Given the description of an element on the screen output the (x, y) to click on. 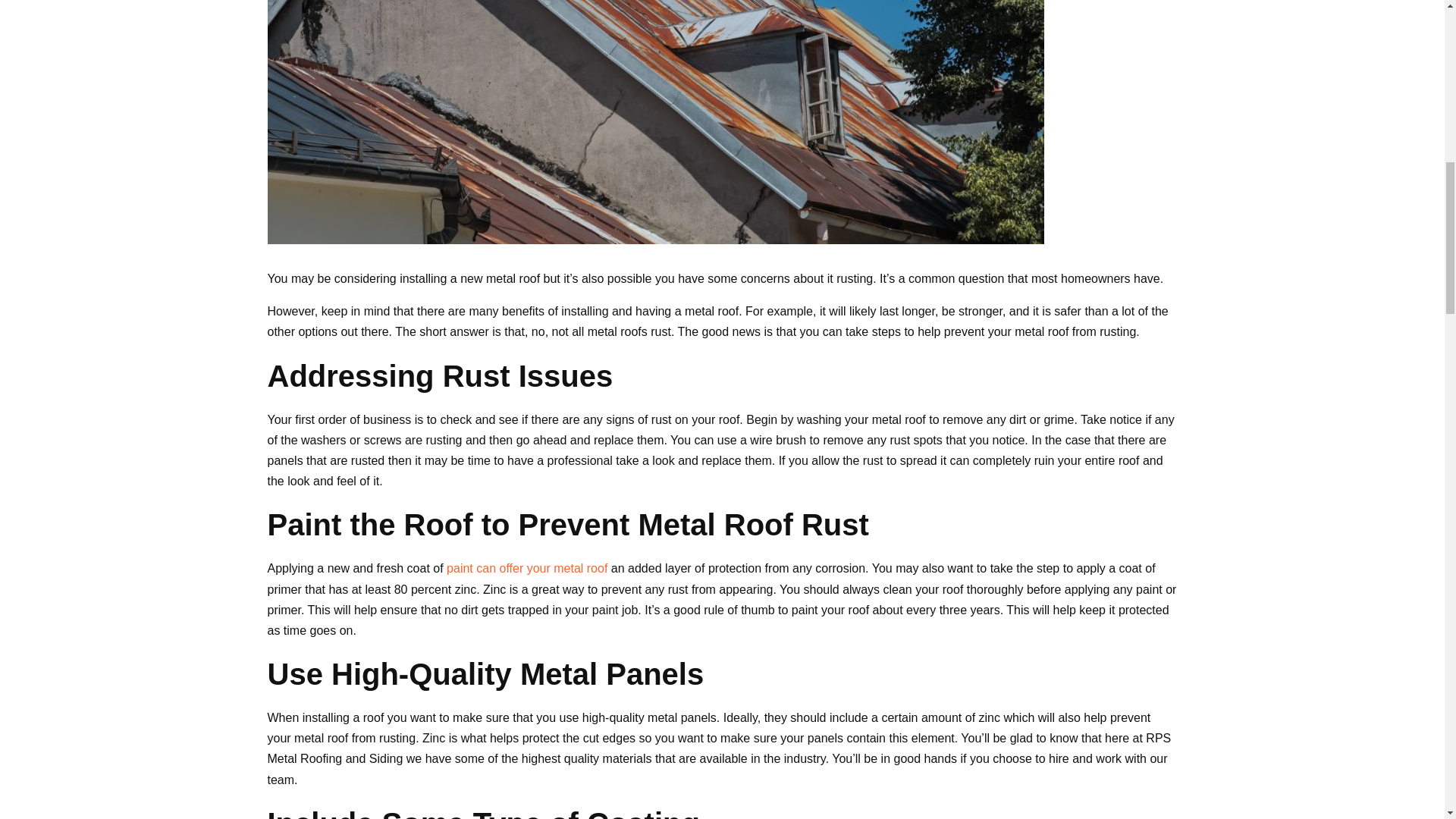
paint can offer your metal roof (526, 567)
